Given the description of an element on the screen output the (x, y) to click on. 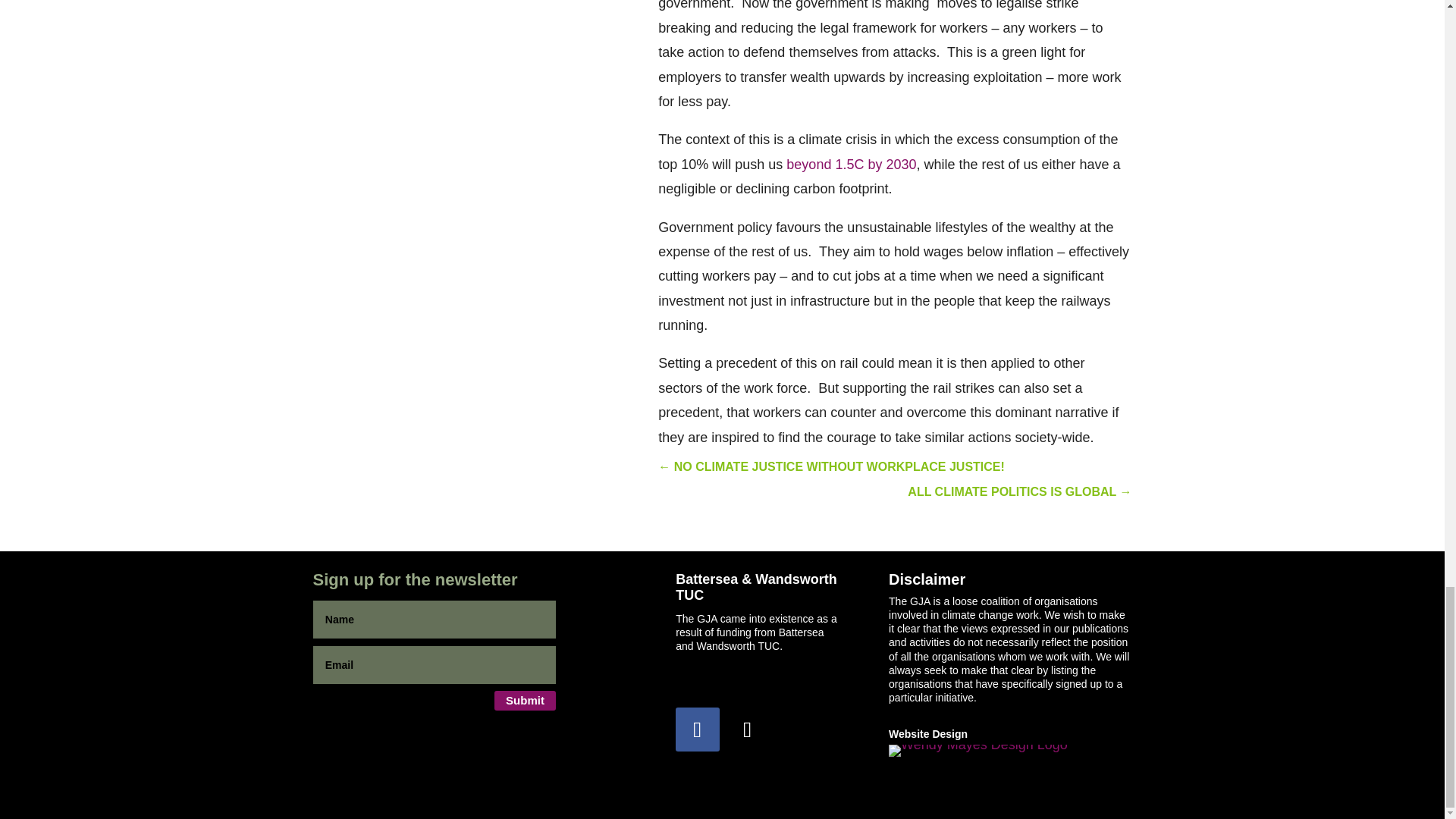
Follow on Facebook (697, 729)
Submit (525, 700)
Wendy Mayes Design Logo (977, 750)
Follow on X (746, 729)
beyond 1.5C by 2030 (850, 164)
